Given the description of an element on the screen output the (x, y) to click on. 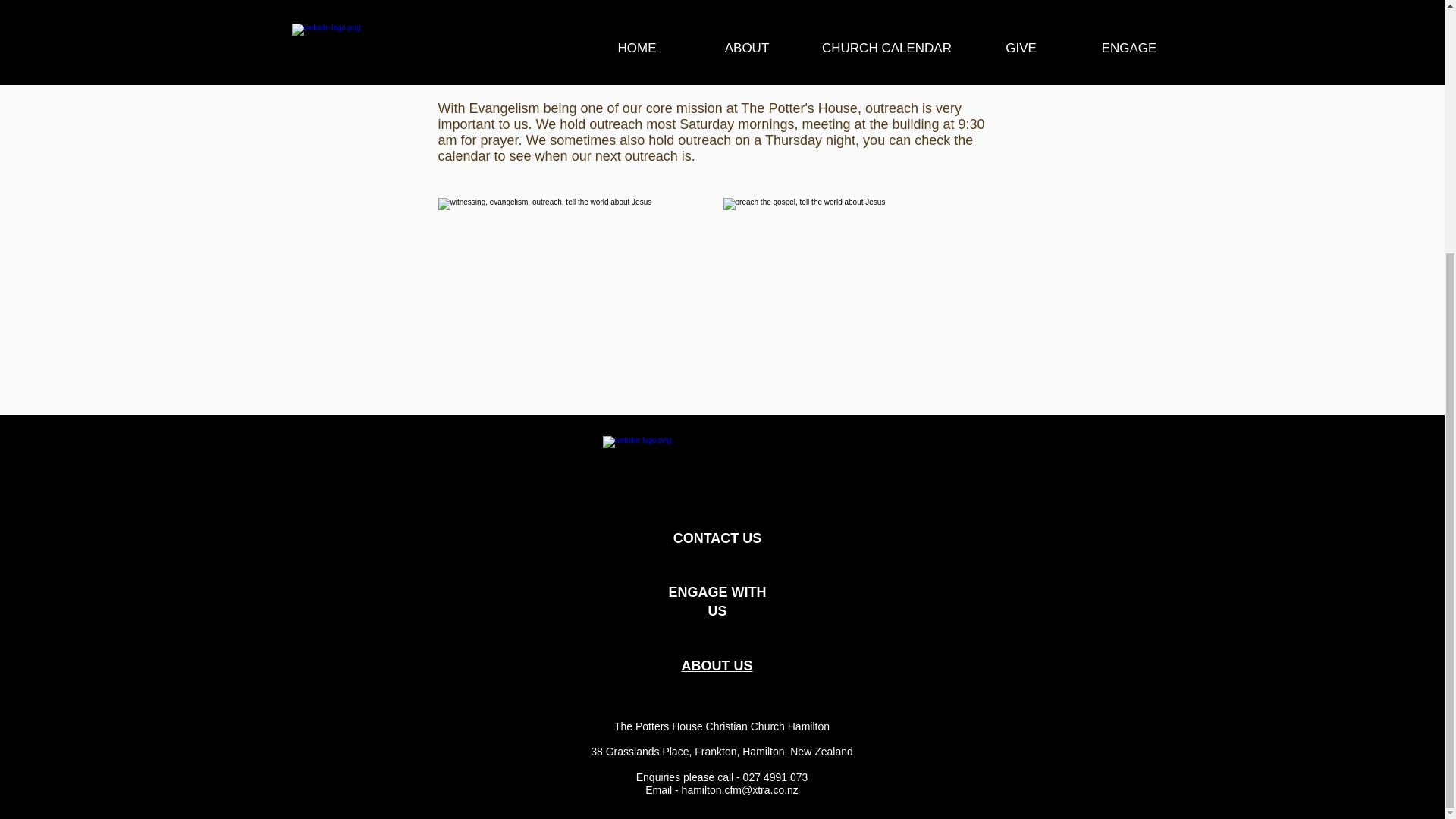
calendar (466, 155)
ABOUT US (716, 665)
ENGAGE WITH US (717, 601)
CONTACT US (716, 538)
